Given the description of an element on the screen output the (x, y) to click on. 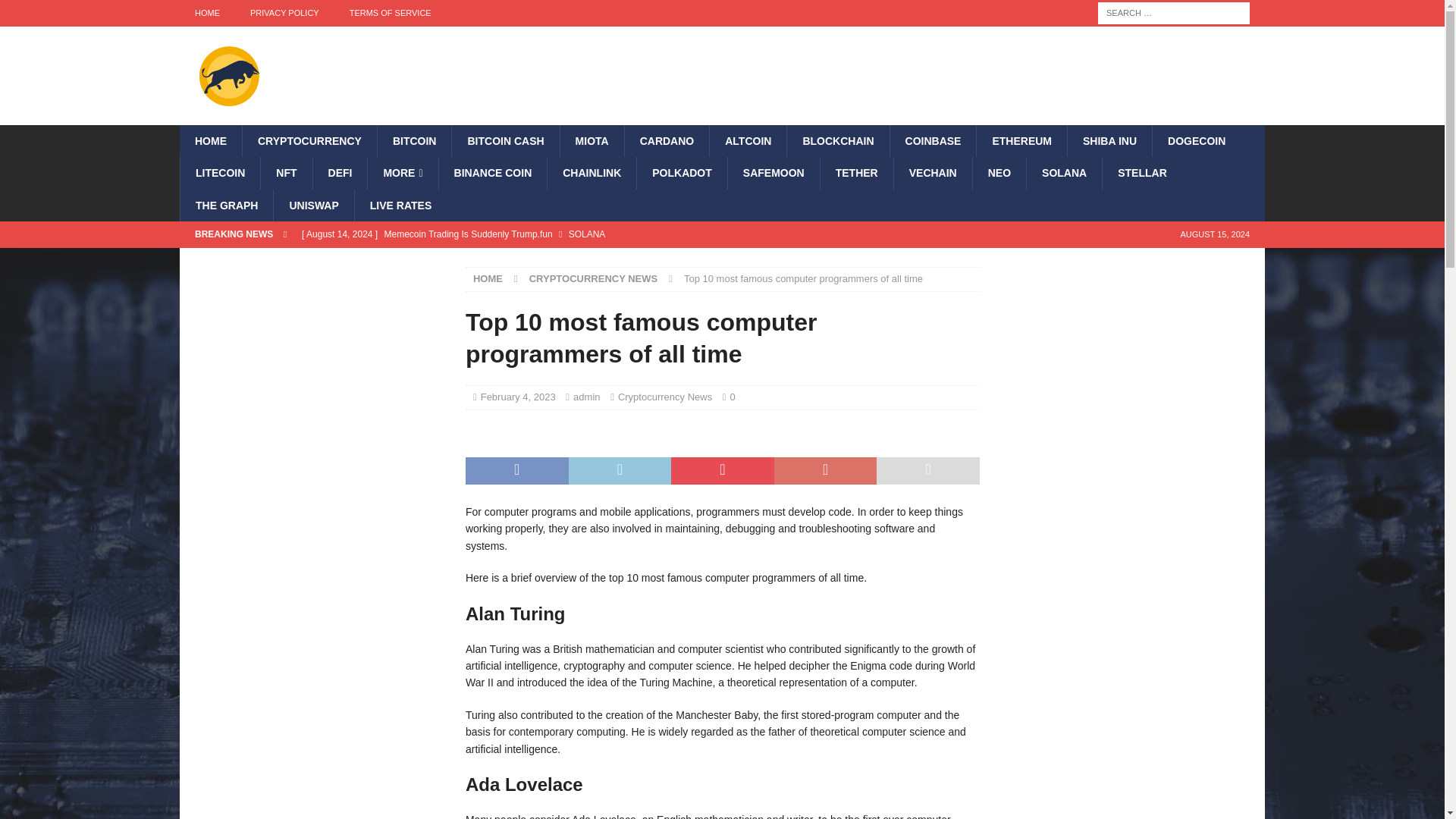
PRIVACY POLICY (284, 13)
HOME (206, 13)
Memecoin Trading Is Suddenly Trump.fun (590, 234)
TERMS OF SERVICE (390, 13)
Search (56, 11)
